Given the description of an element on the screen output the (x, y) to click on. 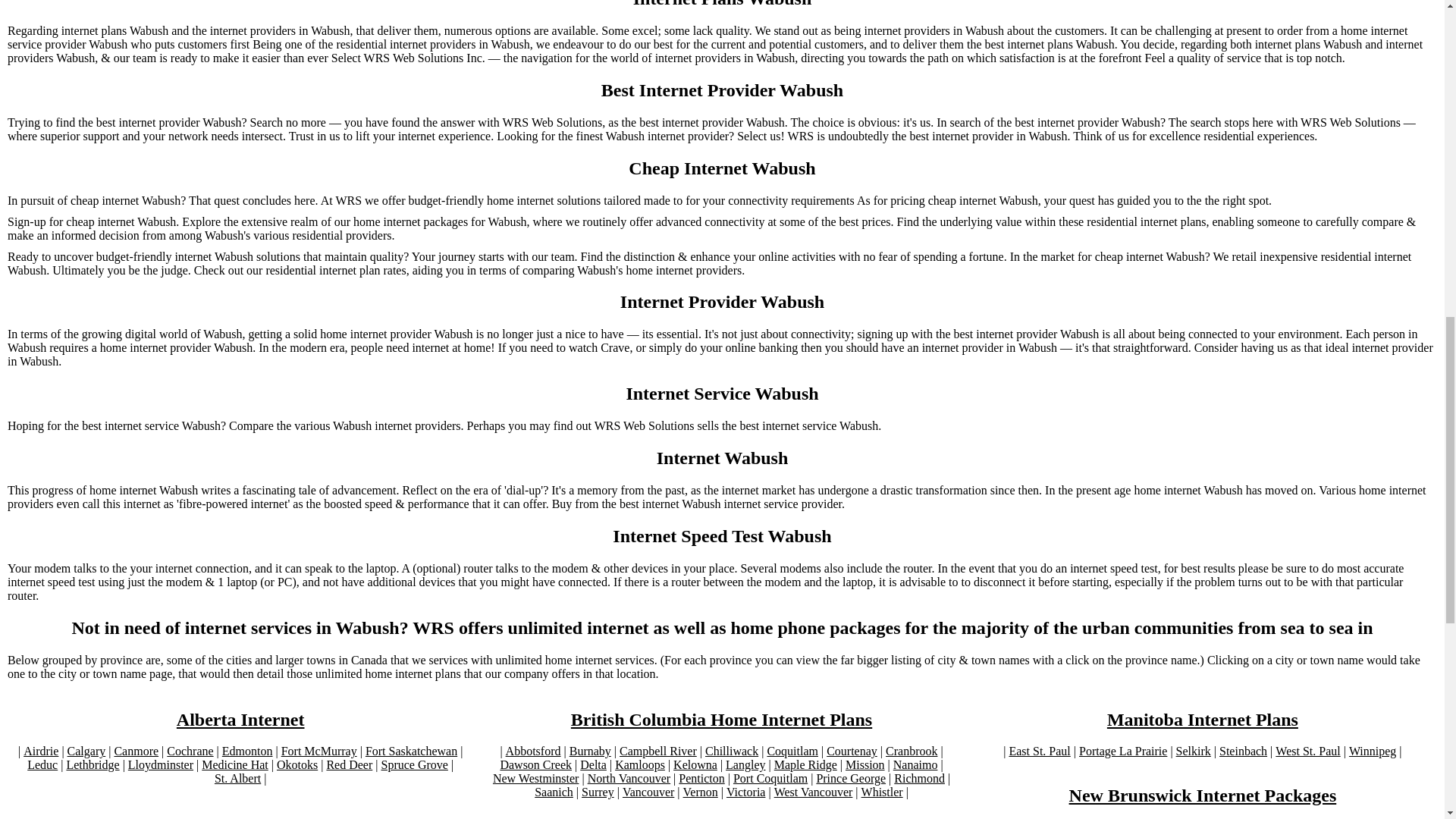
Leduc (42, 765)
Medicine Hat (234, 765)
Abbotsford (532, 751)
Airdrie (40, 751)
Coquitlam (792, 751)
Burnaby (590, 751)
Chilliwack (731, 751)
Red Deer (349, 765)
Campbell River (658, 751)
Fort Saskatchewan (411, 751)
